Given the description of an element on the screen output the (x, y) to click on. 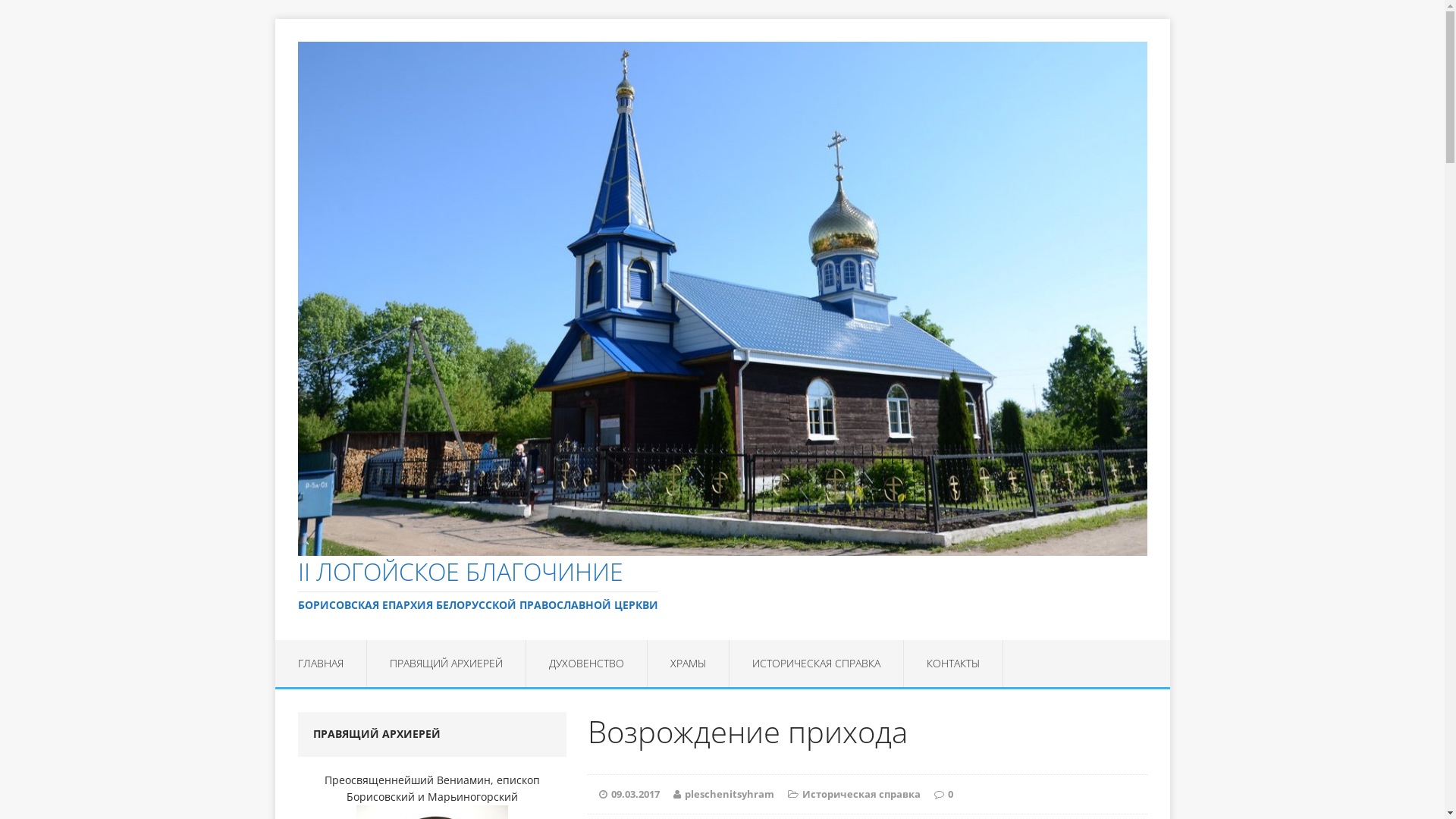
0 Element type: text (950, 793)
09.03.2017 Element type: text (635, 793)
pleschenitsyhram Element type: text (729, 793)
